Given the description of an element on the screen output the (x, y) to click on. 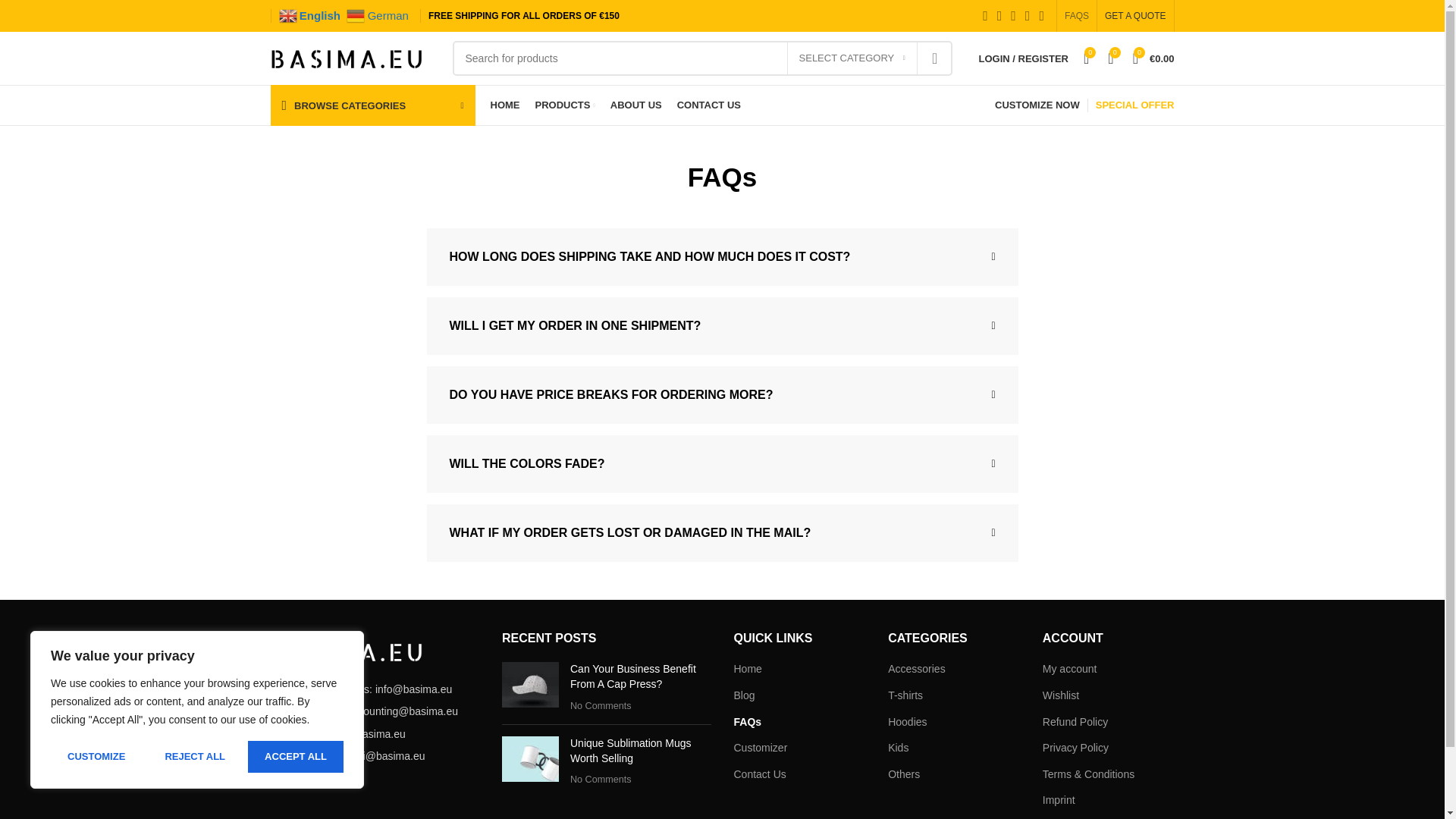
REJECT ALL (194, 757)
ACCEPT ALL (295, 757)
Search for products (701, 58)
English (312, 14)
Shopping cart (1153, 58)
CUSTOMIZE (95, 757)
SELECT CATEGORY (852, 58)
German (379, 14)
My account (1023, 58)
SELECT CATEGORY (852, 58)
GET A QUOTE (1135, 15)
